Given the description of an element on the screen output the (x, y) to click on. 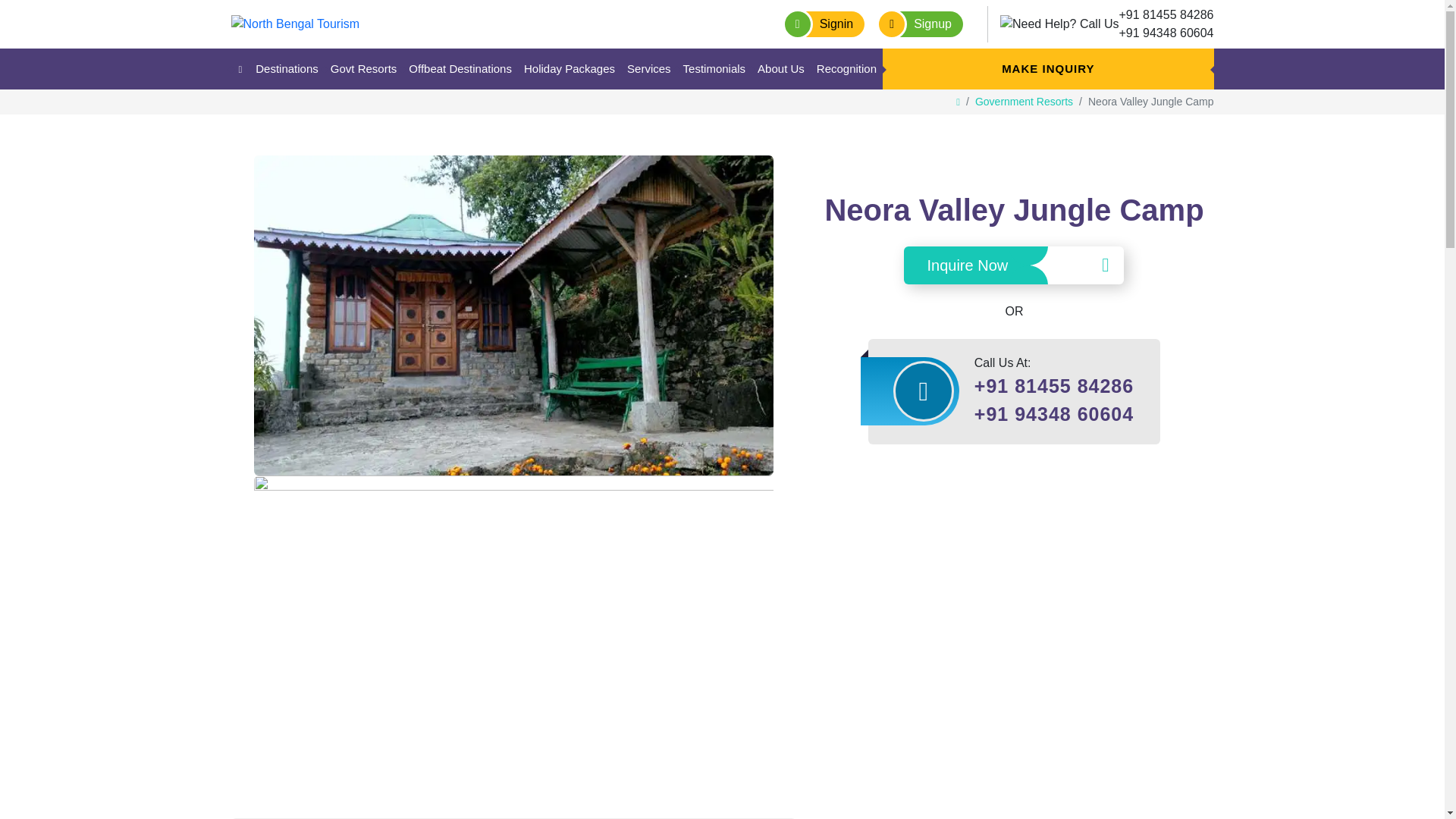
Govt Resorts (363, 68)
About Us (780, 68)
Holiday Packages (569, 68)
Offbeat Destinations (460, 68)
Services (649, 68)
North Bengal Tourism (294, 23)
Testimonials (714, 68)
Destinations (286, 68)
Signup (919, 24)
Signup (919, 24)
